Given the description of an element on the screen output the (x, y) to click on. 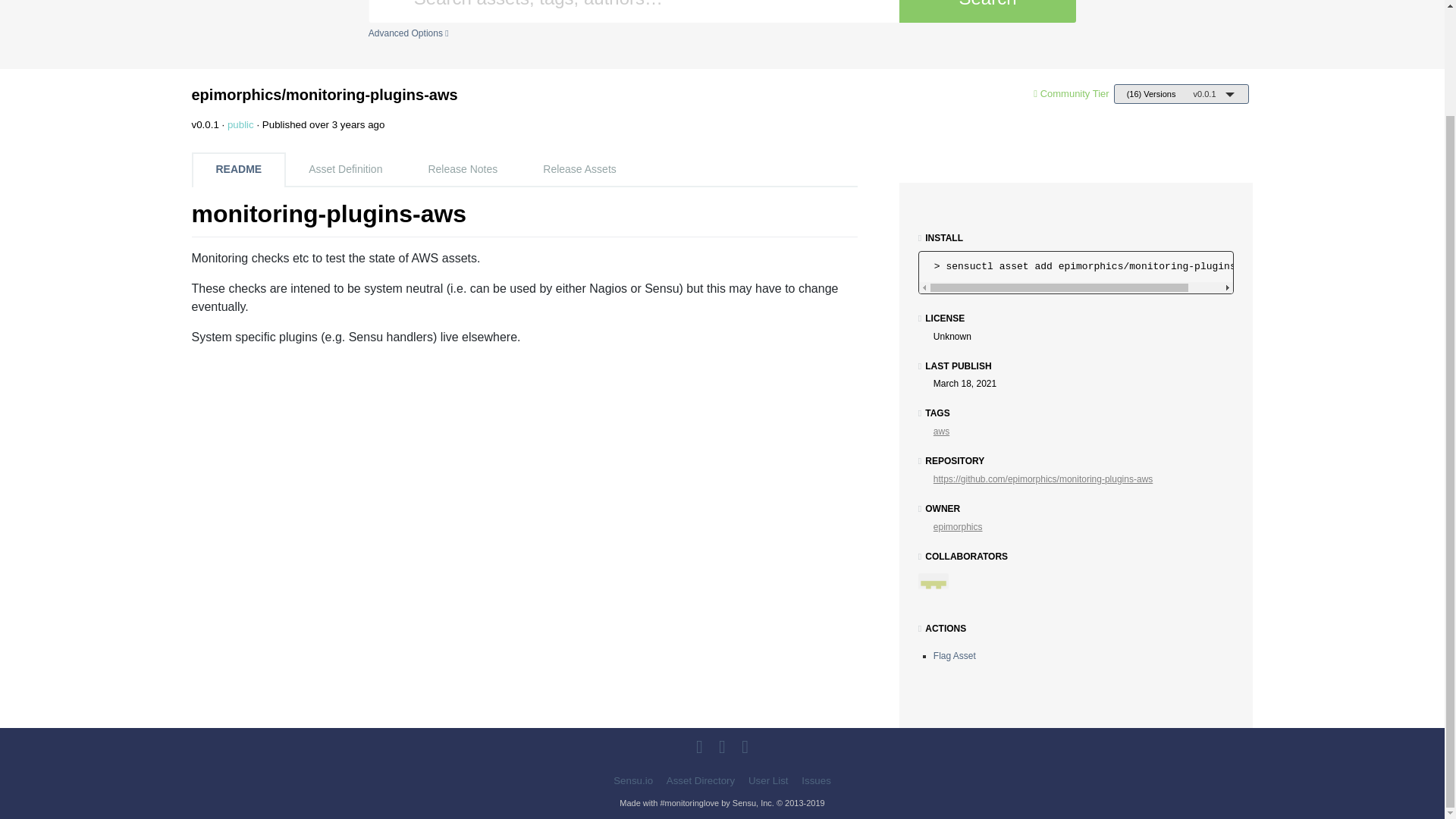
Community Tier (1075, 93)
andrew-pickin-epi (938, 592)
GitHub (701, 749)
Release Assets (579, 169)
Flag Asset (954, 655)
Release Notes (461, 169)
README (237, 169)
Search (987, 11)
Asset Definition (344, 169)
aws (941, 430)
epimorphics (957, 526)
